Given the description of an element on the screen output the (x, y) to click on. 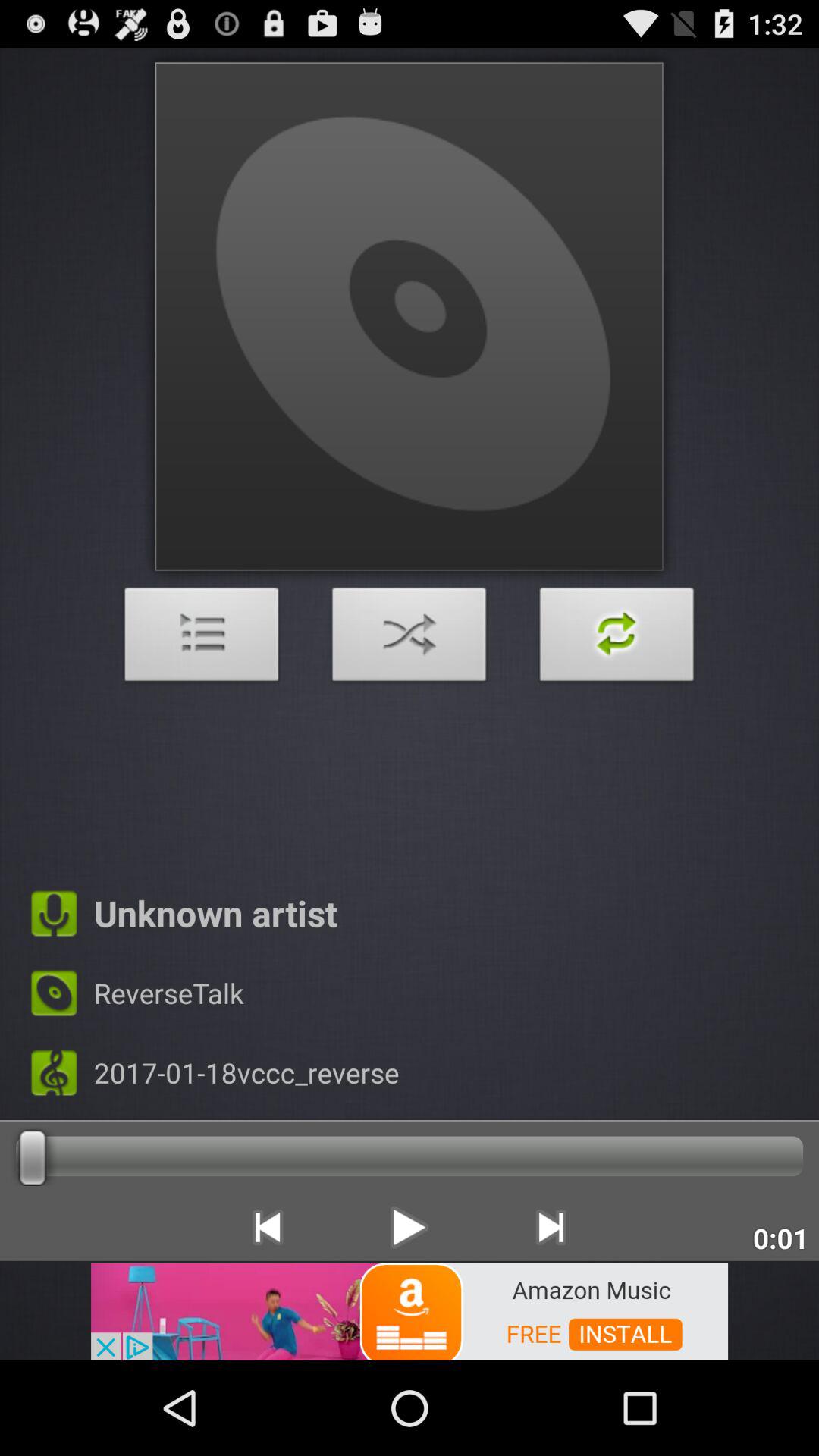
shuffle (409, 638)
